Given the description of an element on the screen output the (x, y) to click on. 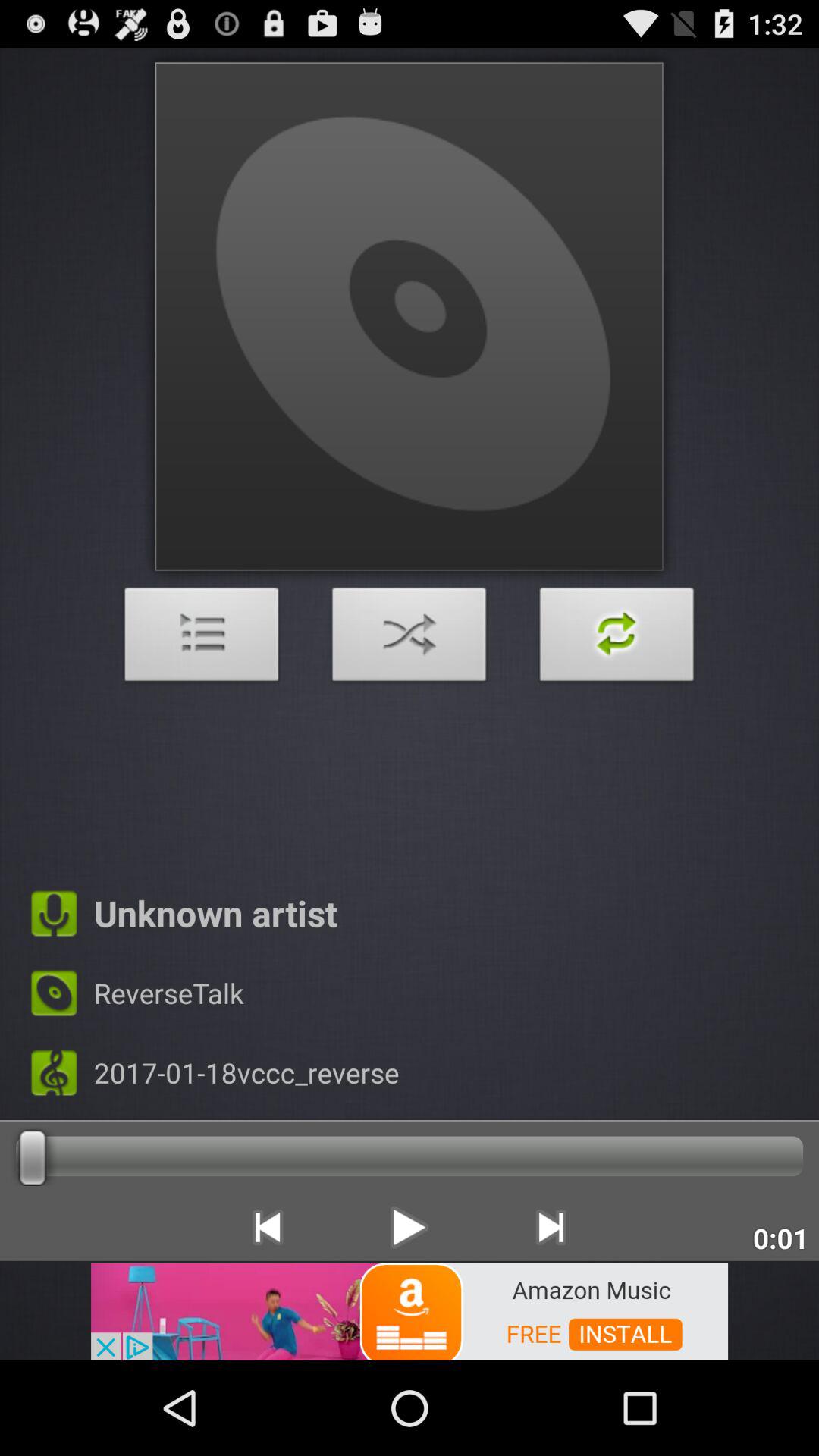
shuffle (409, 638)
